Given the description of an element on the screen output the (x, y) to click on. 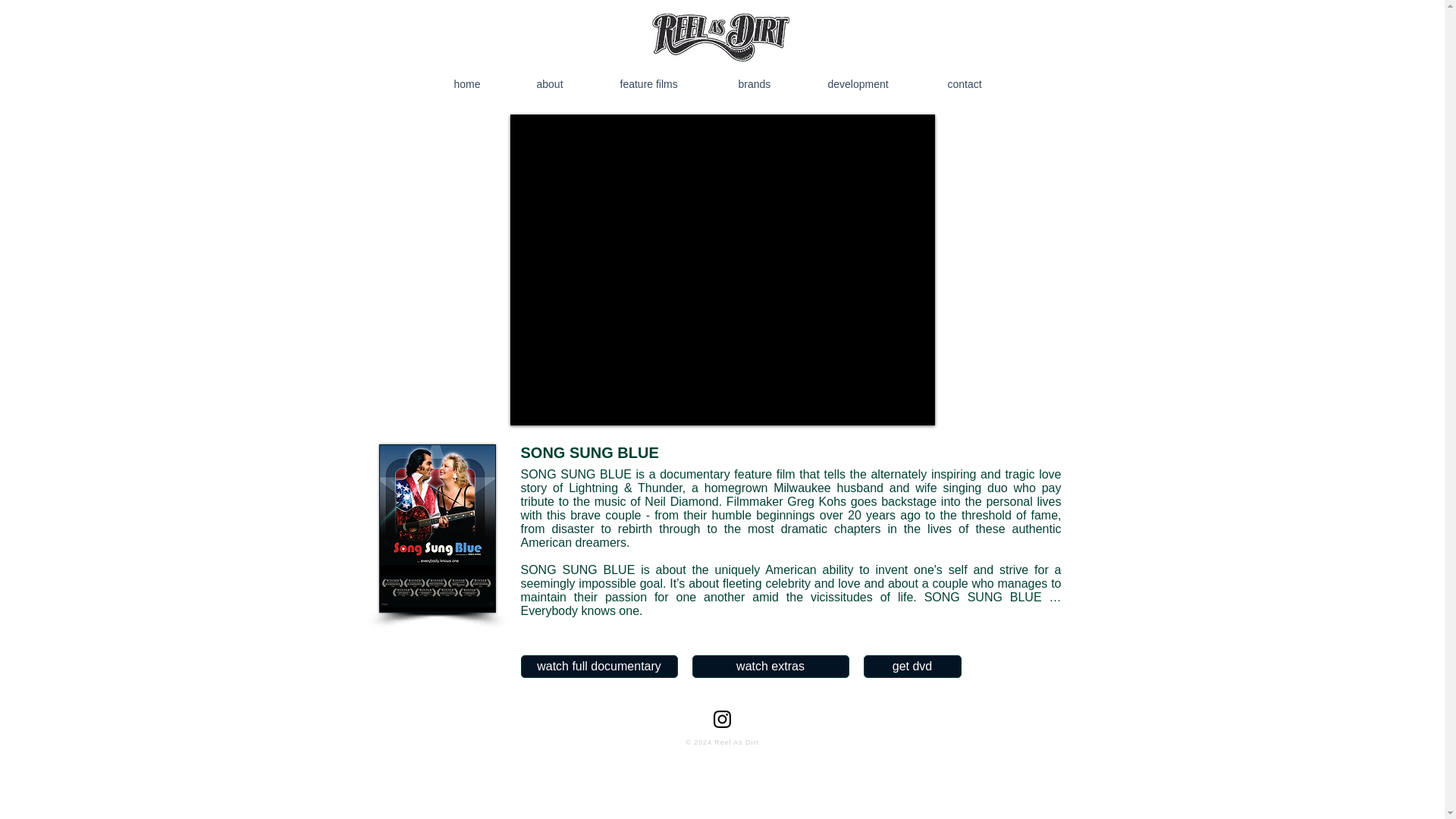
watch extras (769, 666)
brands (772, 83)
get dvd (911, 666)
contact (982, 83)
Reel As Dirt logo (719, 37)
home (485, 83)
about (567, 83)
feature films (669, 83)
watch full documentary (598, 666)
development (876, 83)
